Given the description of an element on the screen output the (x, y) to click on. 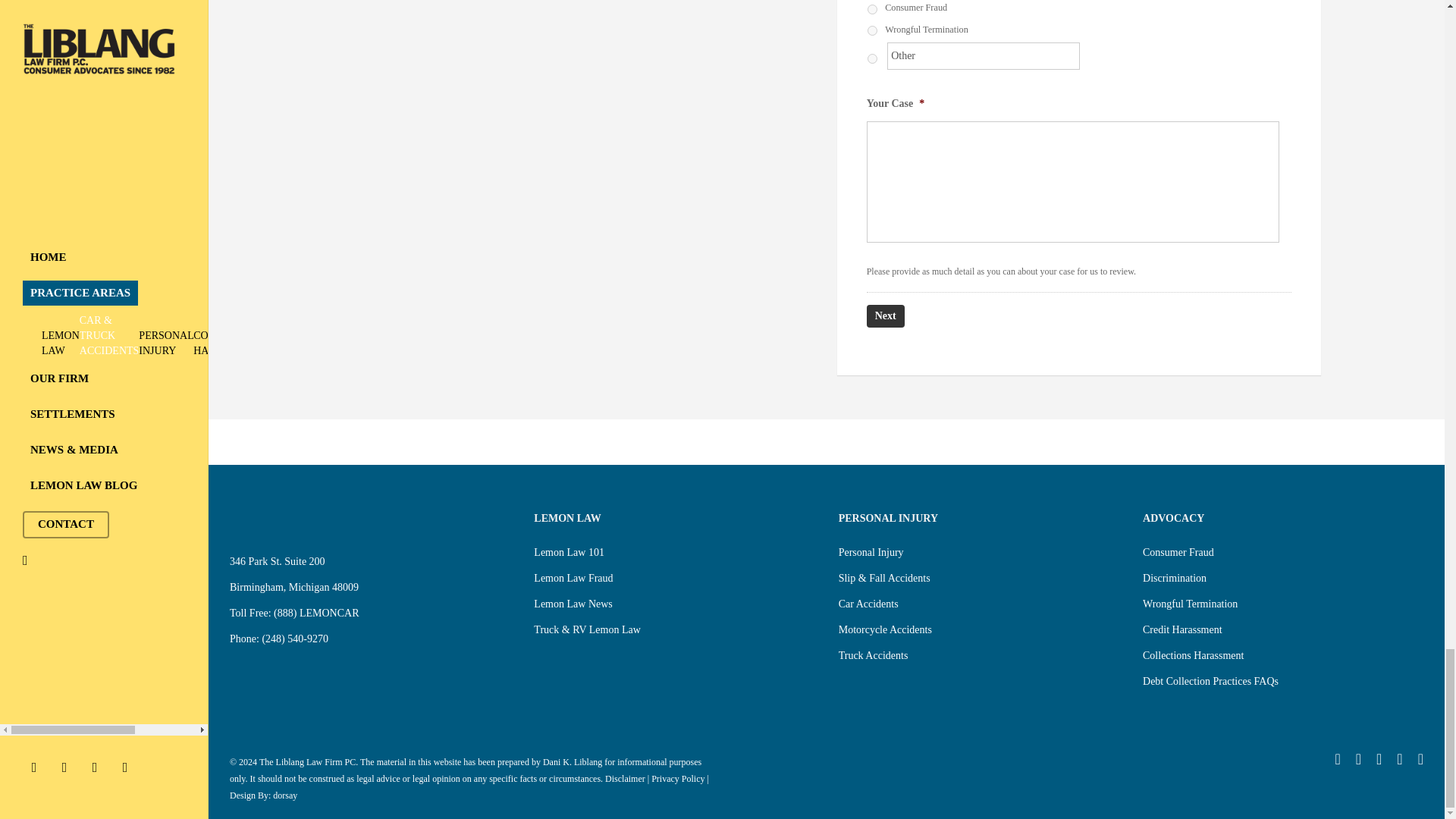
Wrongful Termination (872, 30)
Consumer Fraud (872, 9)
Other (983, 55)
Next (885, 315)
